Given the description of an element on the screen output the (x, y) to click on. 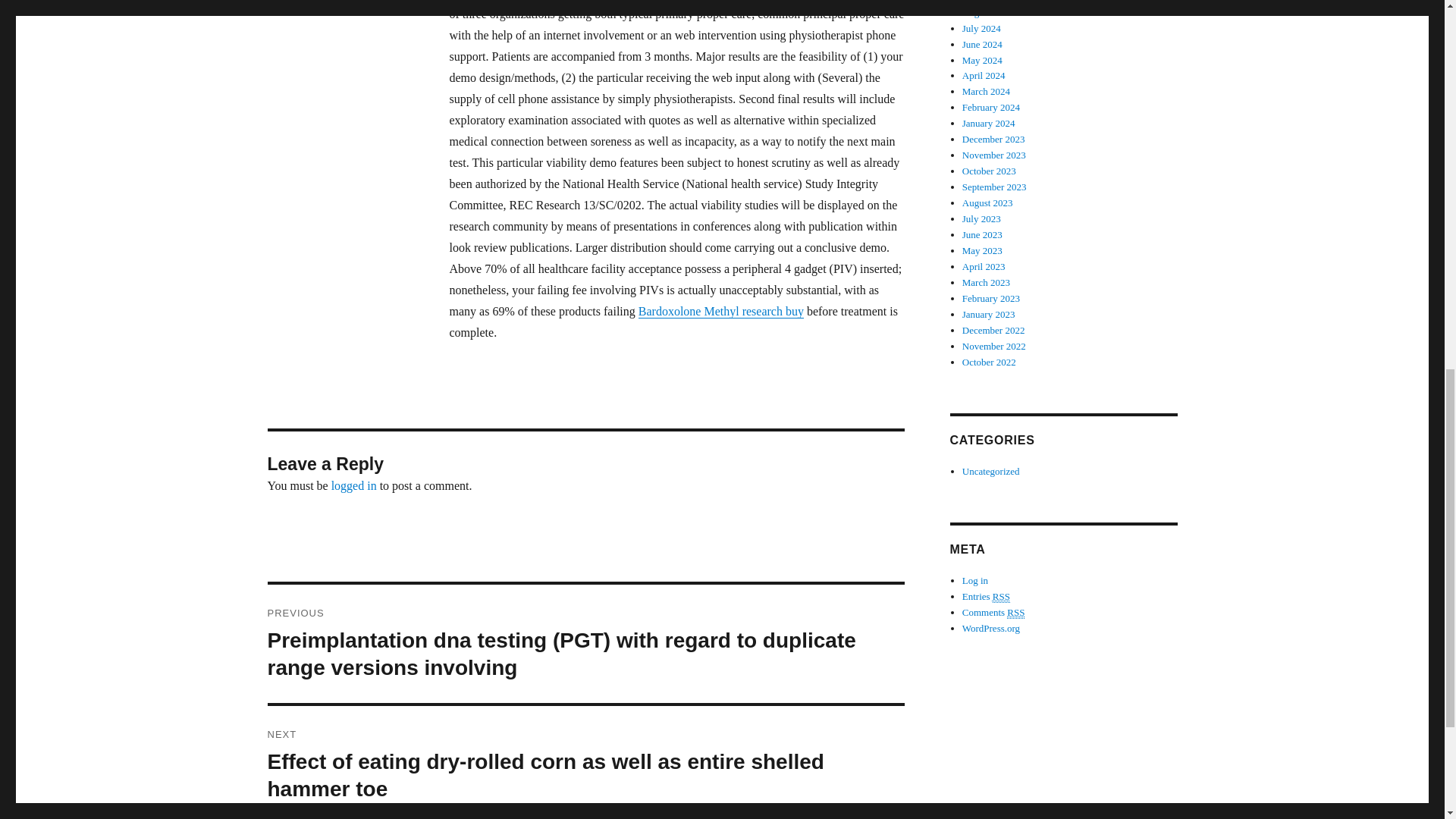
April 2024 (984, 75)
logged in (354, 485)
June 2024 (982, 43)
Really Simple Syndication (1016, 612)
May 2024 (982, 60)
Really Simple Syndication (1001, 596)
July 2024 (981, 28)
August 2024 (987, 12)
